Given the description of an element on the screen output the (x, y) to click on. 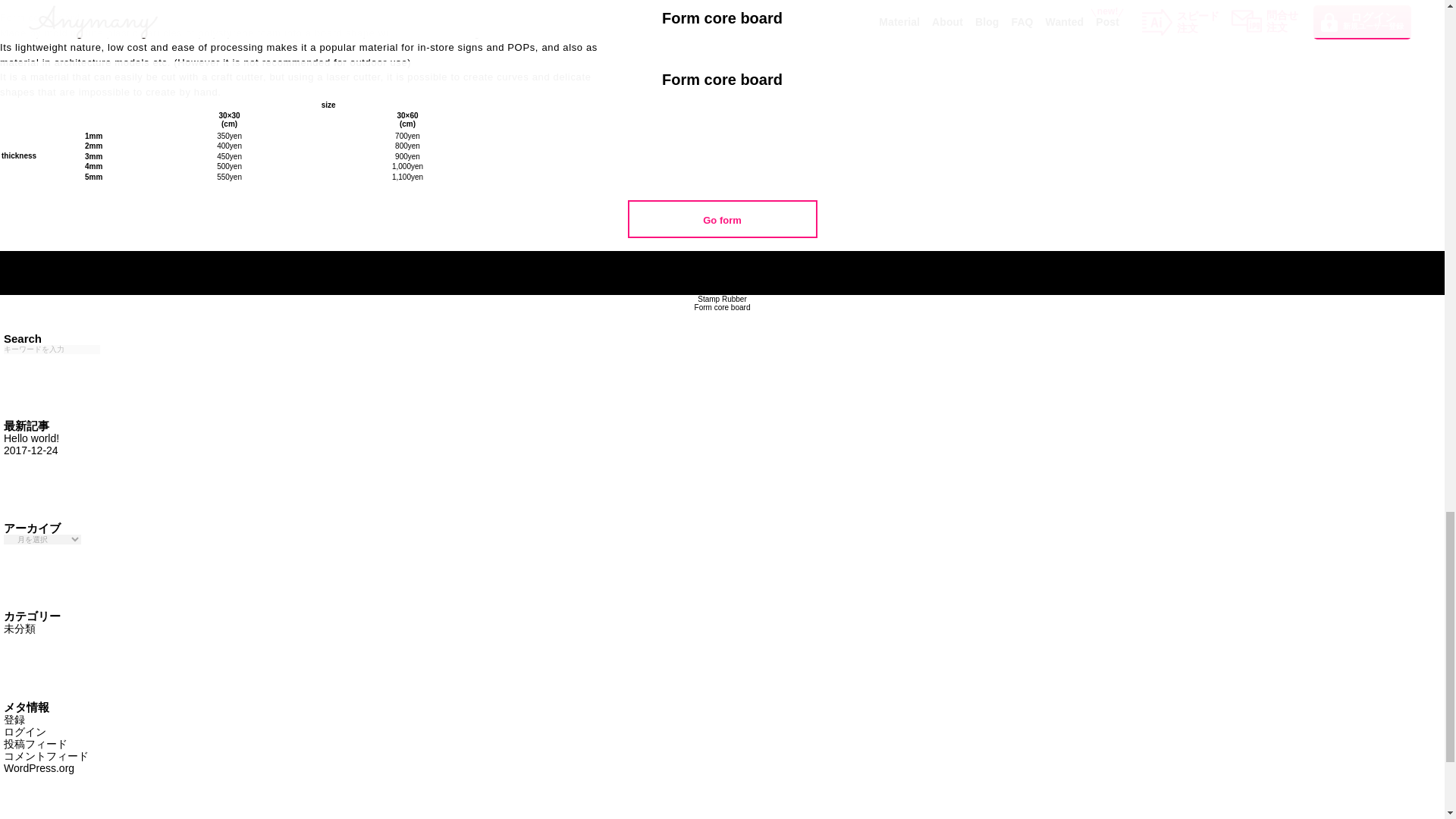
WordPress.org (31, 444)
Go form (39, 767)
Hello world! (722, 220)
Form core board (31, 444)
Stamp Rubber (722, 307)
